Given the description of an element on the screen output the (x, y) to click on. 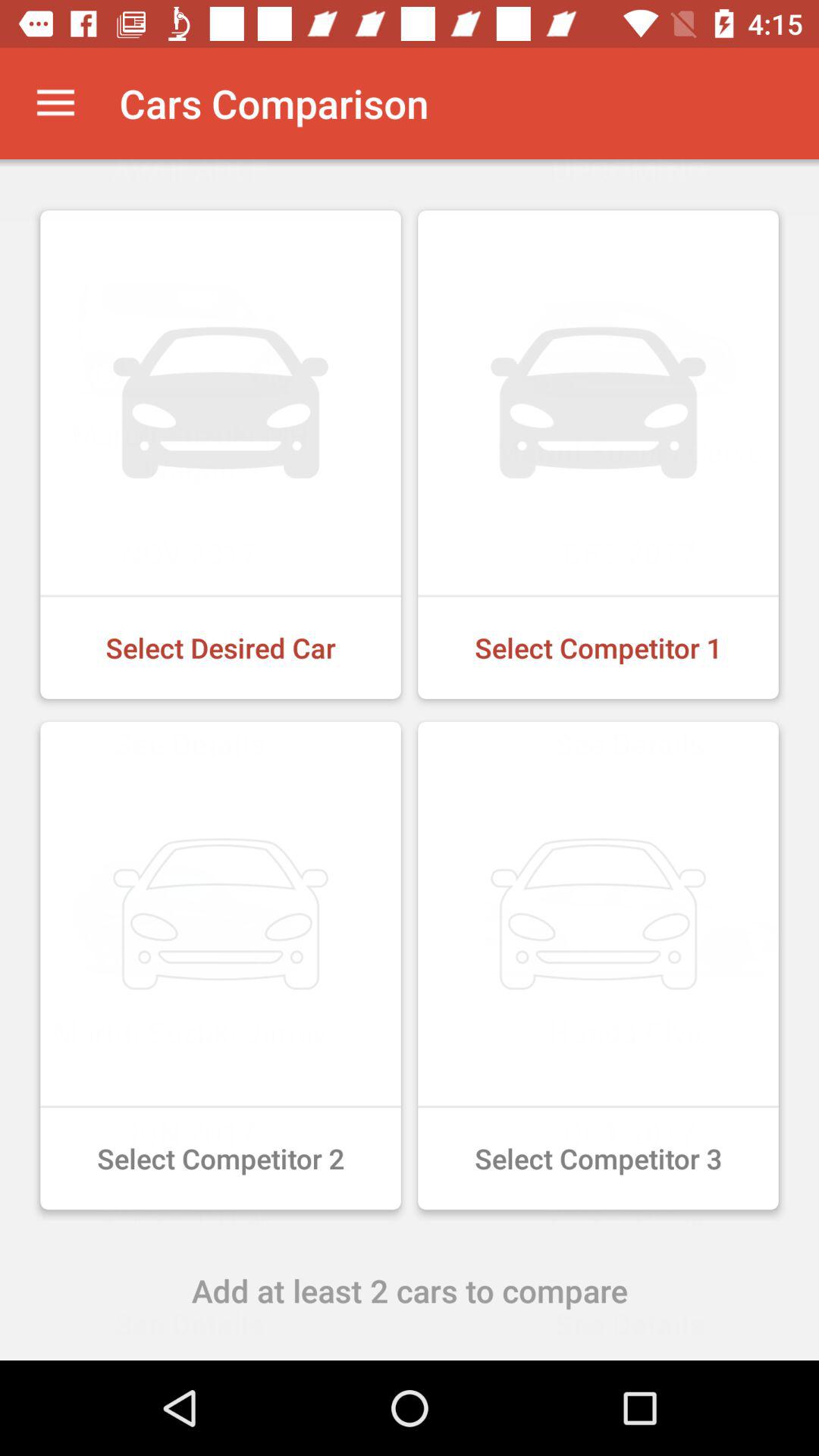
turn off the item to the left of cars comparison (55, 103)
